Given the description of an element on the screen output the (x, y) to click on. 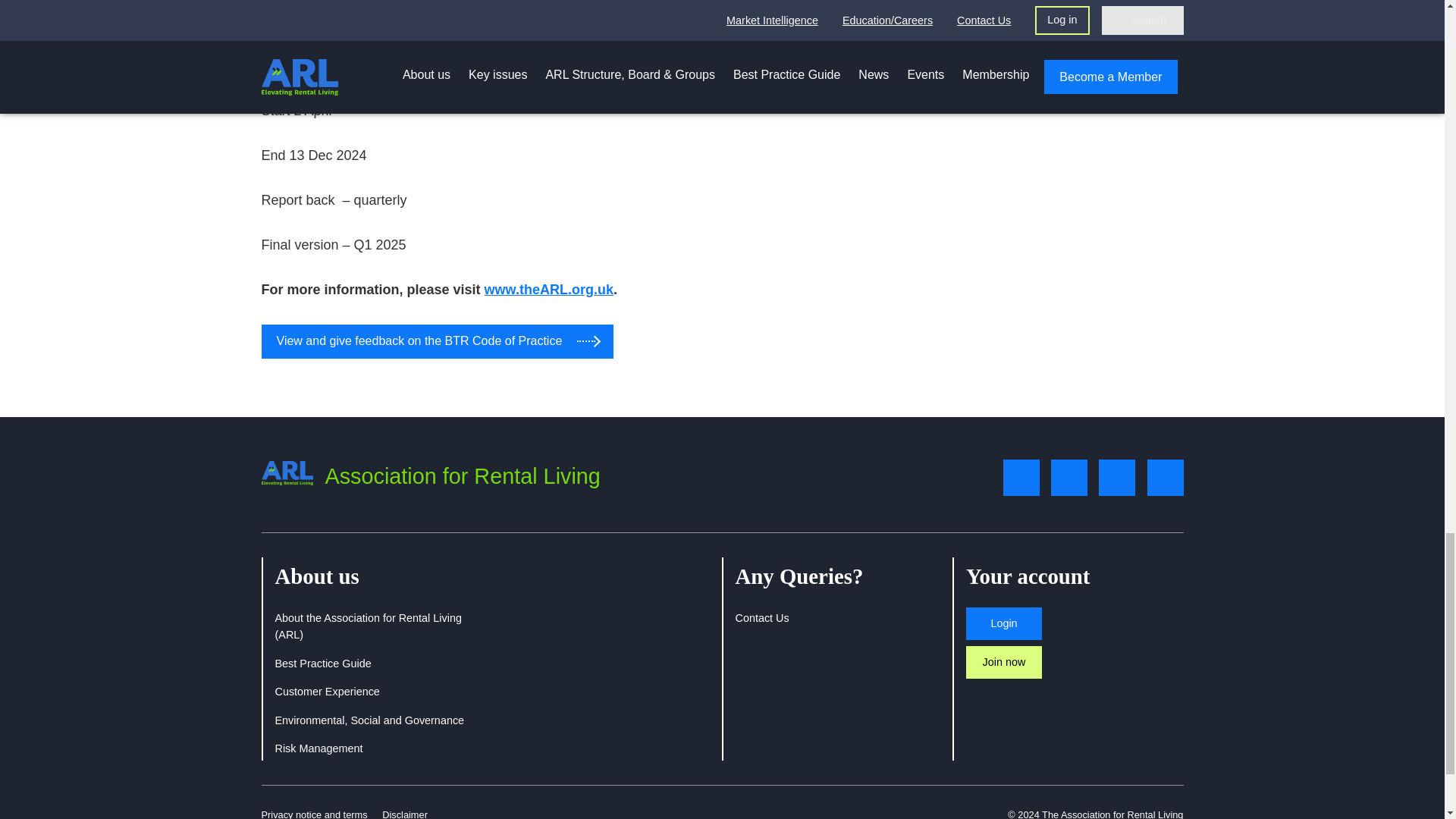
Twitter (1021, 477)
Linkedin (1117, 477)
Facebook (1069, 477)
Instagram (1164, 477)
